Given the description of an element on the screen output the (x, y) to click on. 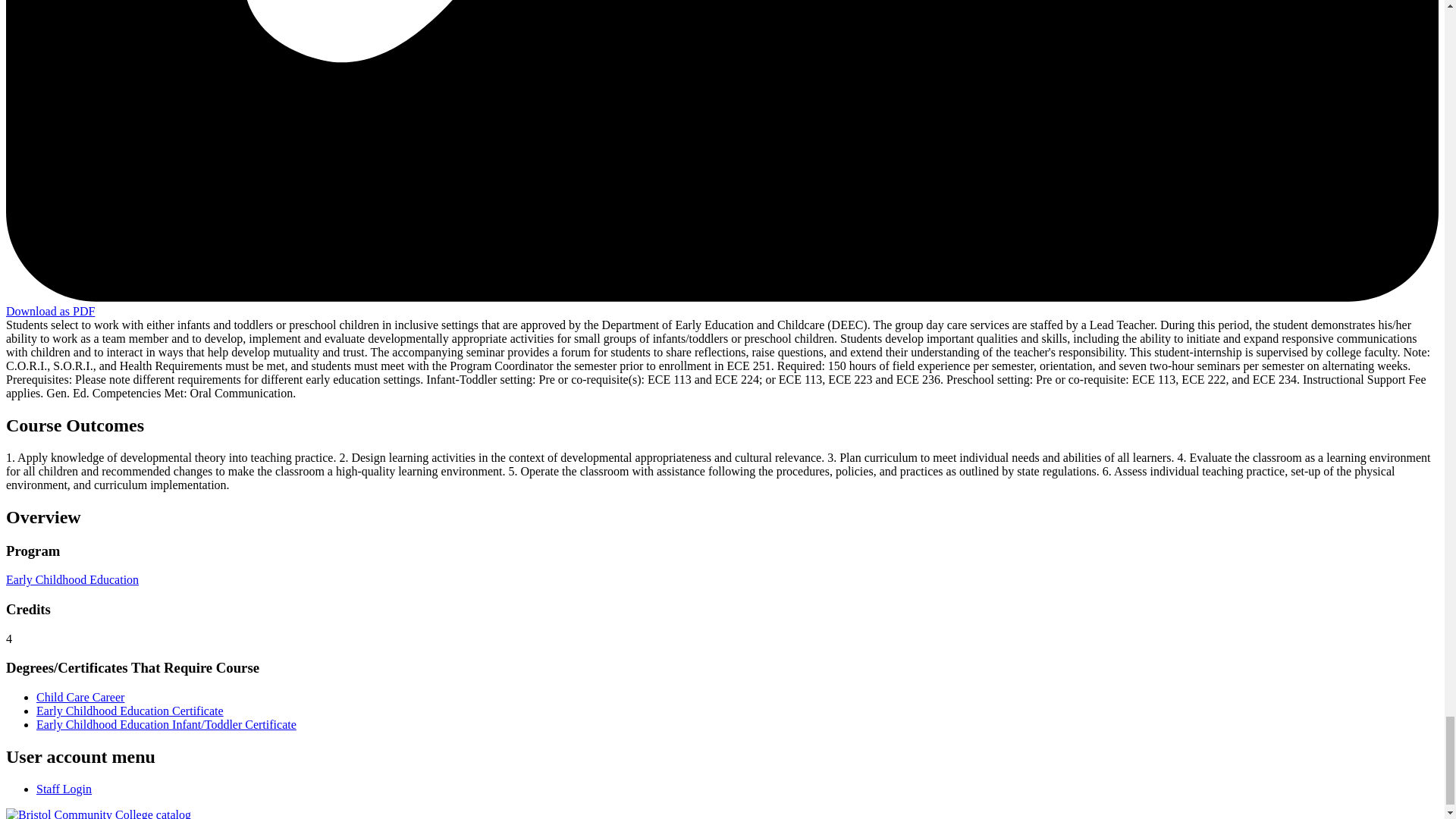
Download as PDF (49, 310)
Early Childhood Education (71, 579)
Child Care Career (79, 697)
Early Childhood Education Certificate (130, 710)
Staff Login (63, 788)
